Given the description of an element on the screen output the (x, y) to click on. 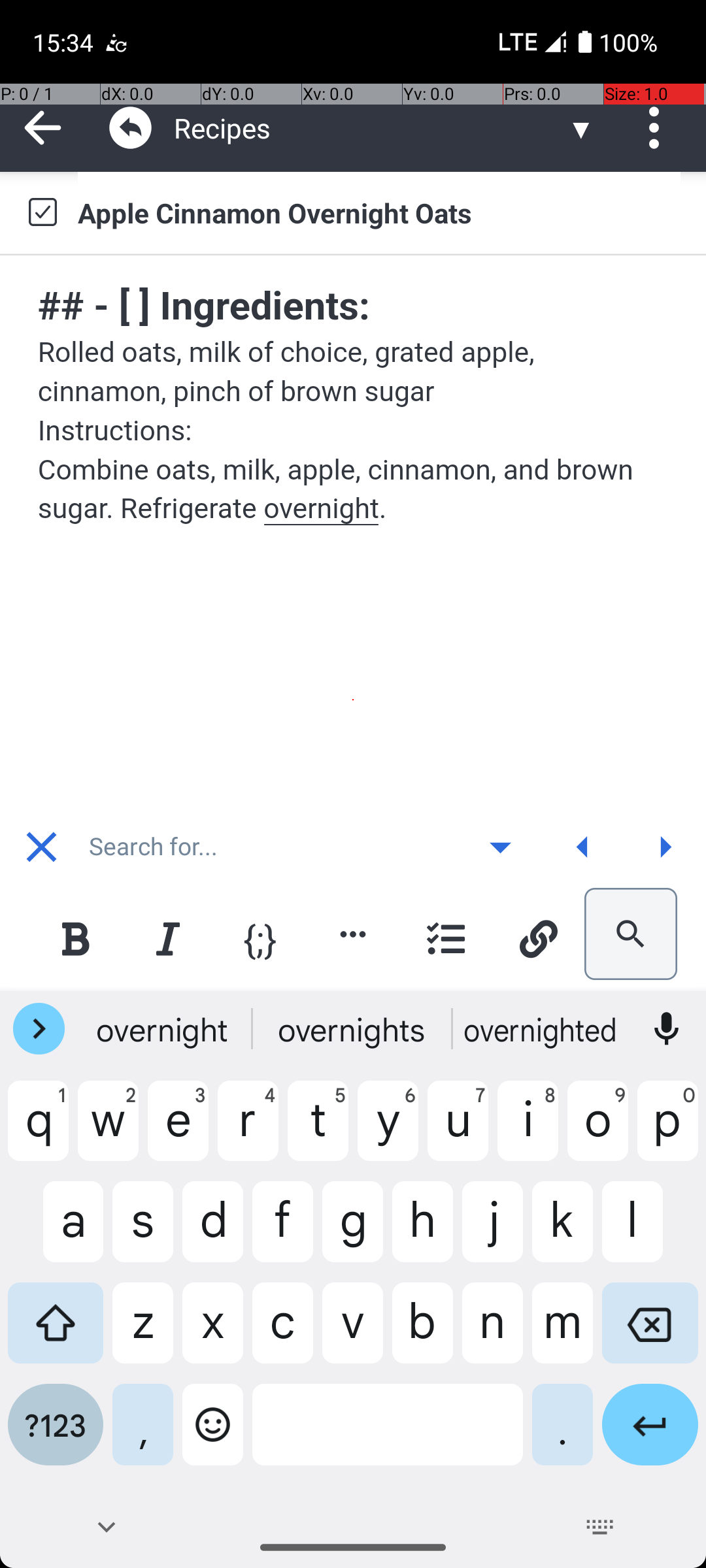
Apple Cinnamon Overnight Oats Element type: android.widget.EditText (378, 212)
Search for... Element type: android.widget.EditText (270, 846)
Show advanced Element type: android.widget.Button (499, 846)
Previous match Element type: android.widget.Button (582, 846)
Next match Element type: android.widget.Button (664, 846)
󰅖 Element type: android.widget.TextView (41, 846)
󰍝 Element type: android.widget.TextView (500, 846)
󰍞 Element type: android.widget.TextView (582, 846)
󰍟 Element type: android.widget.TextView (664, 846)
## - [ ] Ingredients:
Rolled oats, milk of choice, grated apple, cinnamon, pinch of brown sugar
Instructions:
Combine oats, milk, apple, cinnamon, and brown sugar. Refrigerate overnight. Element type: android.widget.EditText (354, 403)
overnight Element type: android.widget.FrameLayout (163, 1028)
overnights Element type: android.widget.FrameLayout (352, 1028)
overnighted Element type: android.widget.FrameLayout (541, 1028)
